Given the description of an element on the screen output the (x, y) to click on. 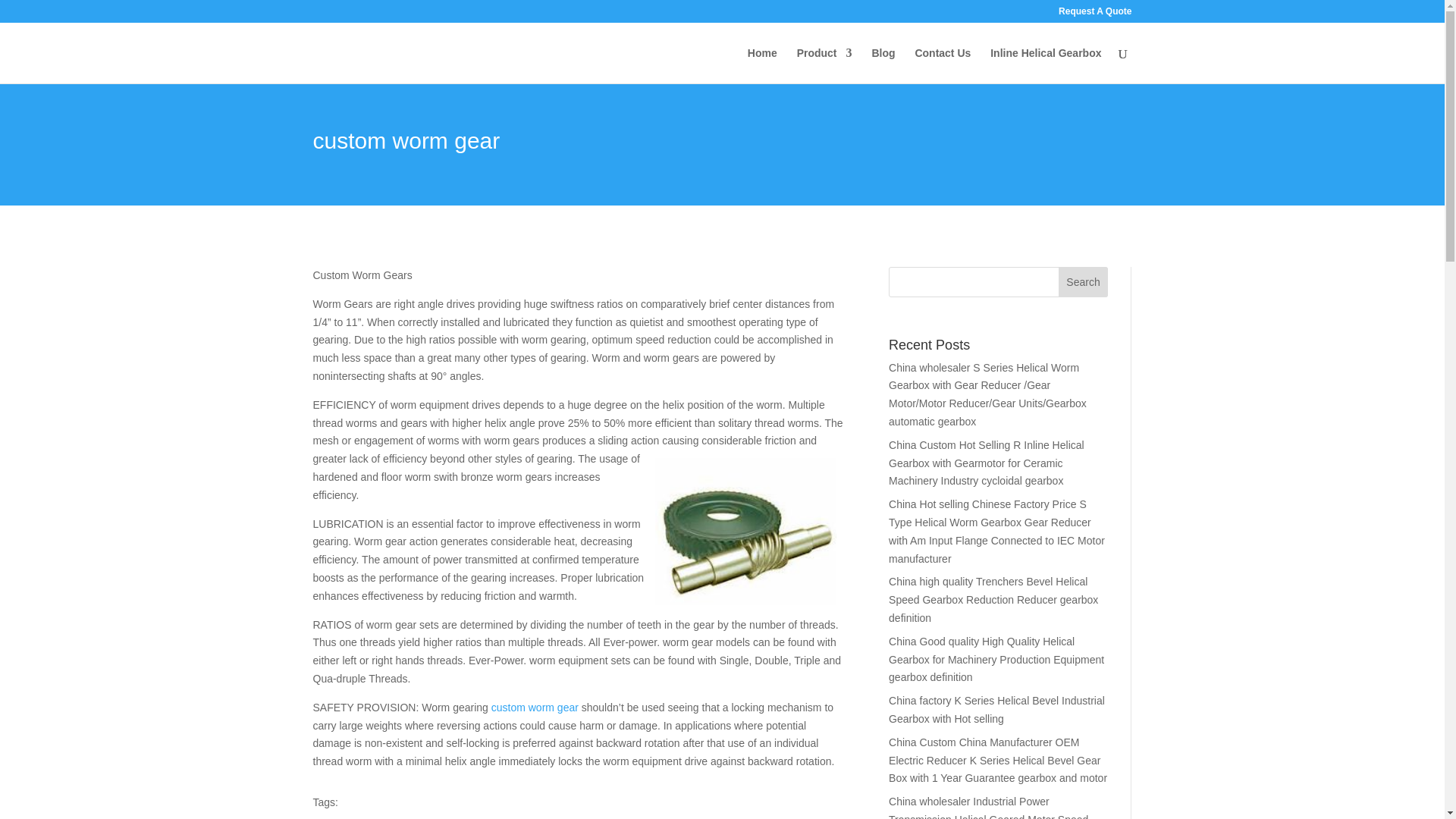
Inline Helical Gearbox (1045, 65)
Search (1083, 281)
Search (1083, 281)
custom worm gear (535, 707)
Product (823, 65)
Request A Quote (1094, 14)
Contact Us (942, 65)
